Given the description of an element on the screen output the (x, y) to click on. 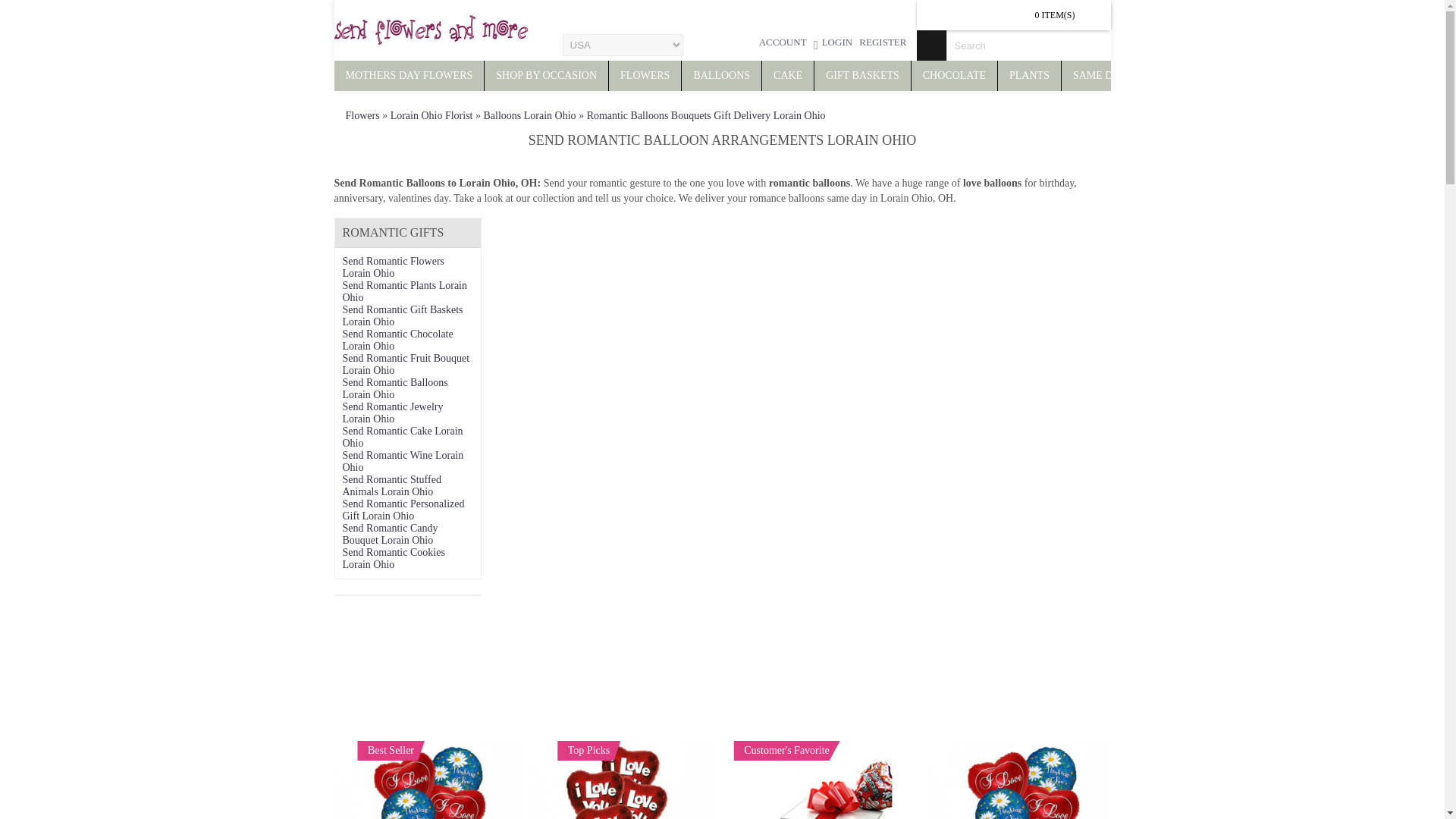
BALLOONS (721, 75)
ACCOUNT (783, 43)
CAKE (787, 75)
REGISTER (882, 43)
SHOP BY OCCASION (546, 75)
MOTHERS DAY FLOWERS (408, 75)
PLANTS (1029, 75)
CHOCOLATE (954, 75)
LOGIN (832, 43)
sendflowersandmore.com (430, 30)
